Given the description of an element on the screen output the (x, y) to click on. 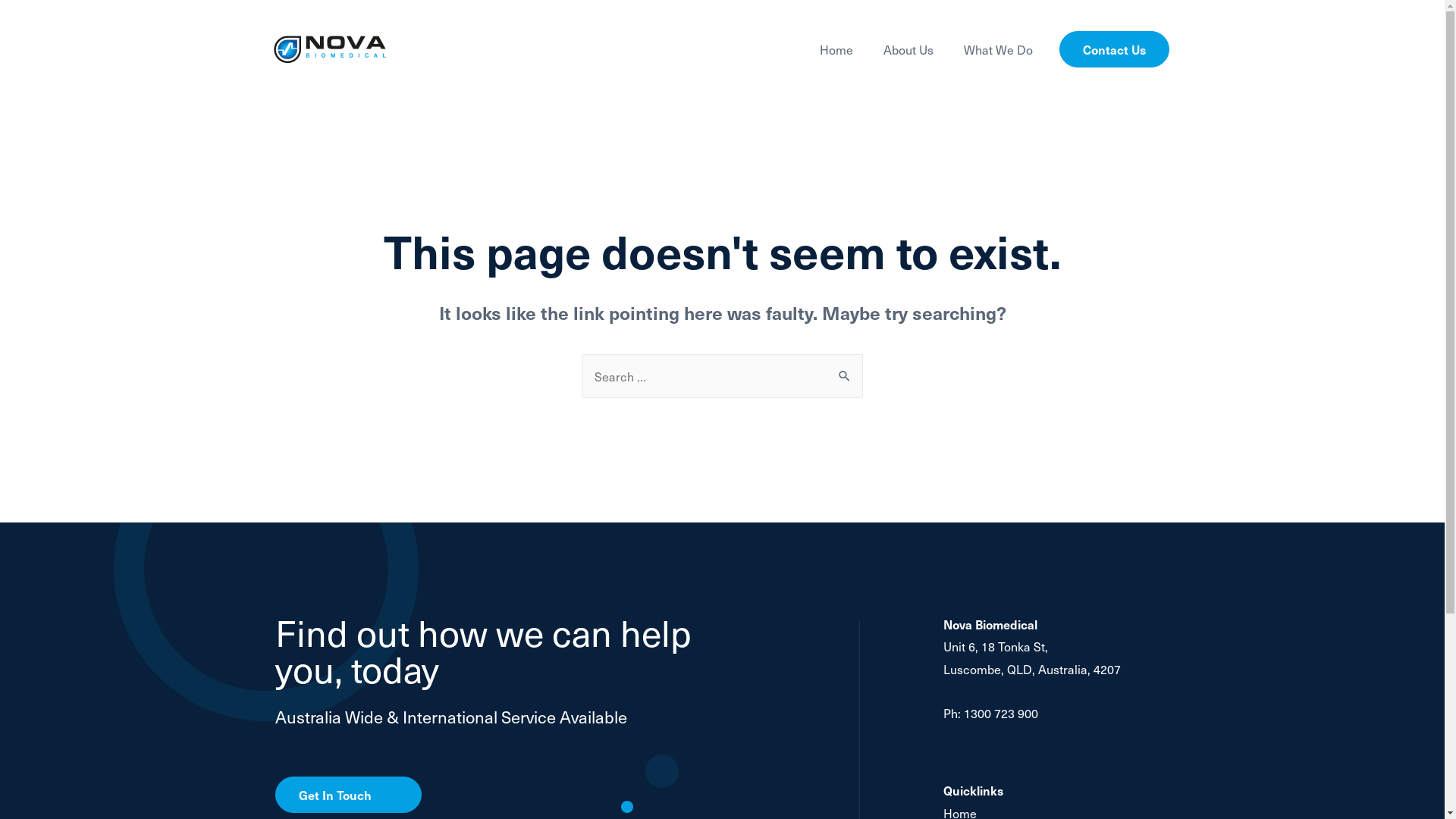
Get In Touch Element type: text (347, 794)
Search Element type: text (845, 375)
Contact Us Element type: text (1114, 49)
Home Element type: text (836, 48)
What We Do Element type: text (998, 48)
About Us Element type: text (908, 48)
